Given the description of an element on the screen output the (x, y) to click on. 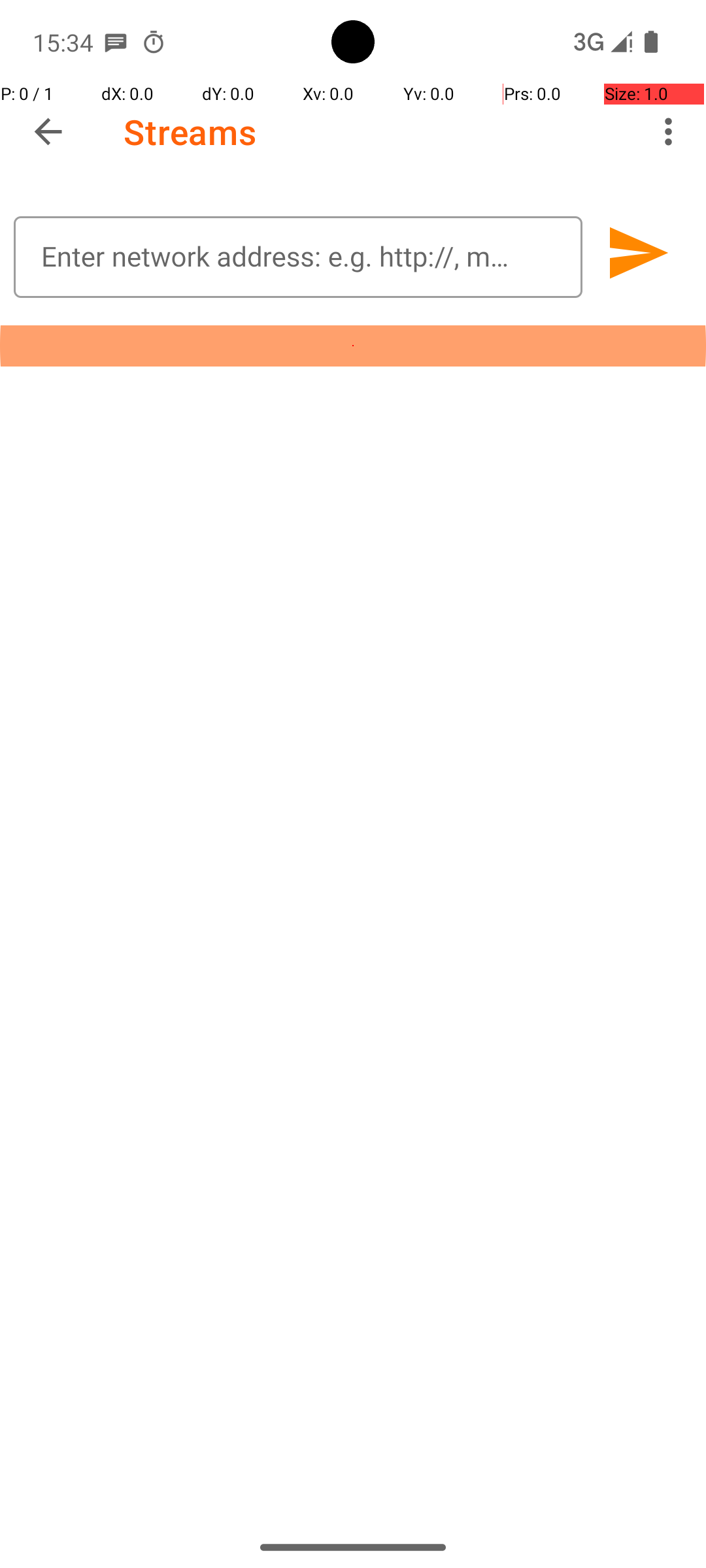
Enter network address: e.g. http://, mms:// or rtsp:// Element type: android.widget.EditText (297, 256)
Play Button Element type: android.widget.ImageView (637, 252)
